Given the description of an element on the screen output the (x, y) to click on. 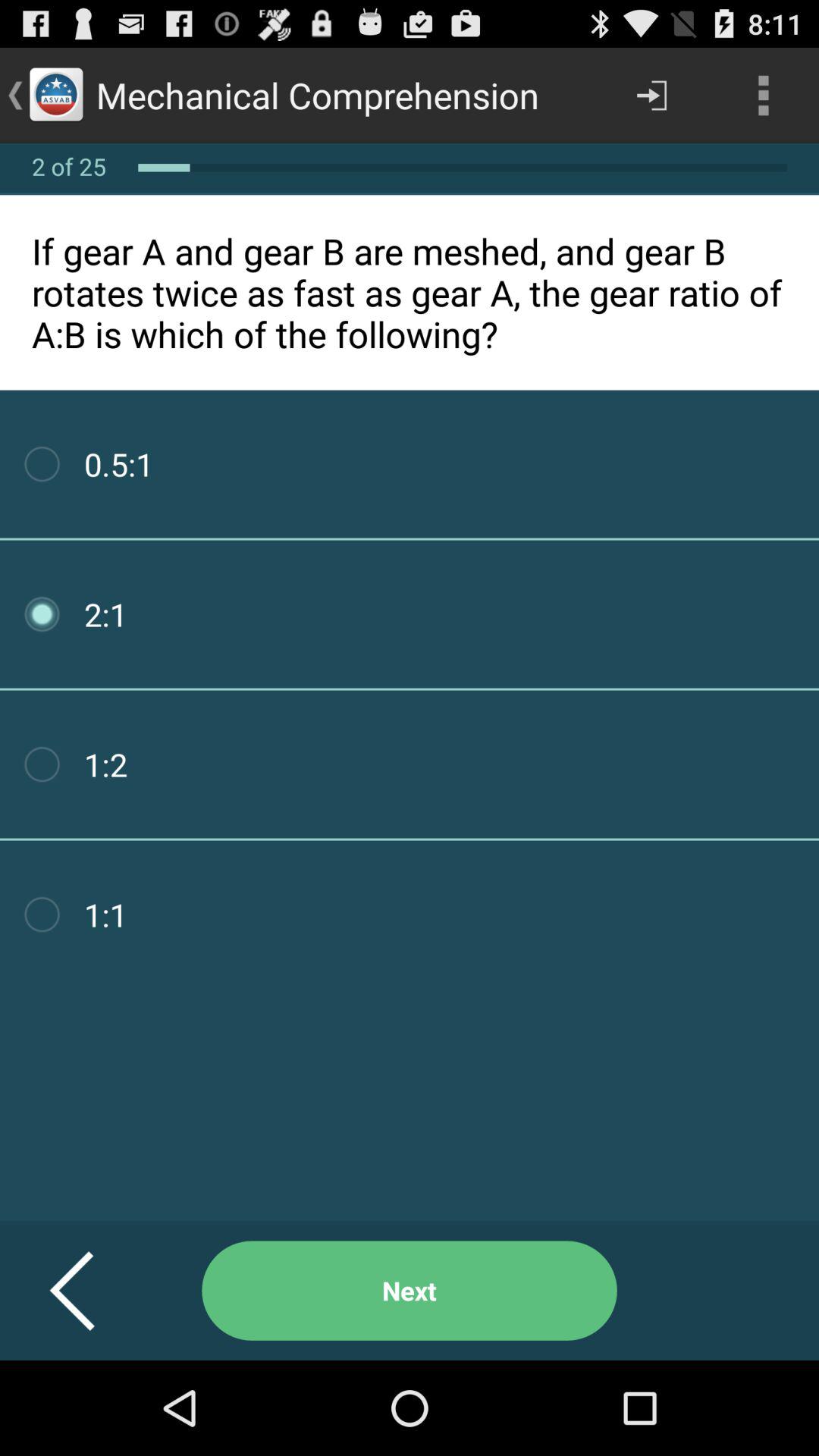
select item at the bottom left corner (91, 1290)
